Given the description of an element on the screen output the (x, y) to click on. 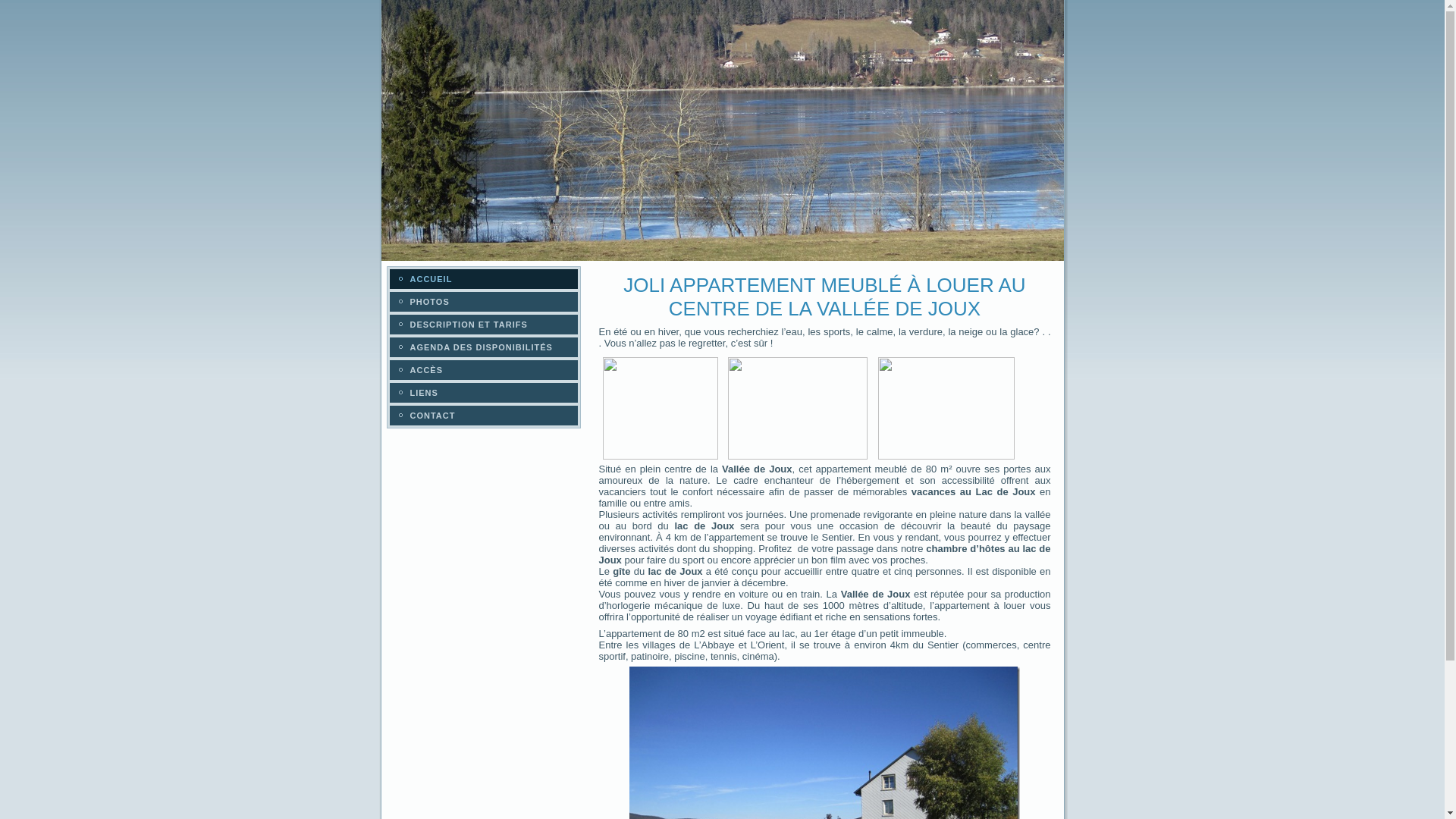
ACCUEIL Element type: text (483, 278)
image005 Element type: hover (797, 408)
LIENS Element type: text (483, 392)
DESCRIPTION ET TARIFS Element type: text (483, 324)
PHOTOS Element type: text (483, 301)
image007 Element type: hover (946, 408)
CONTACT Element type: text (483, 415)
image003 Element type: hover (659, 408)
